Given the description of an element on the screen output the (x, y) to click on. 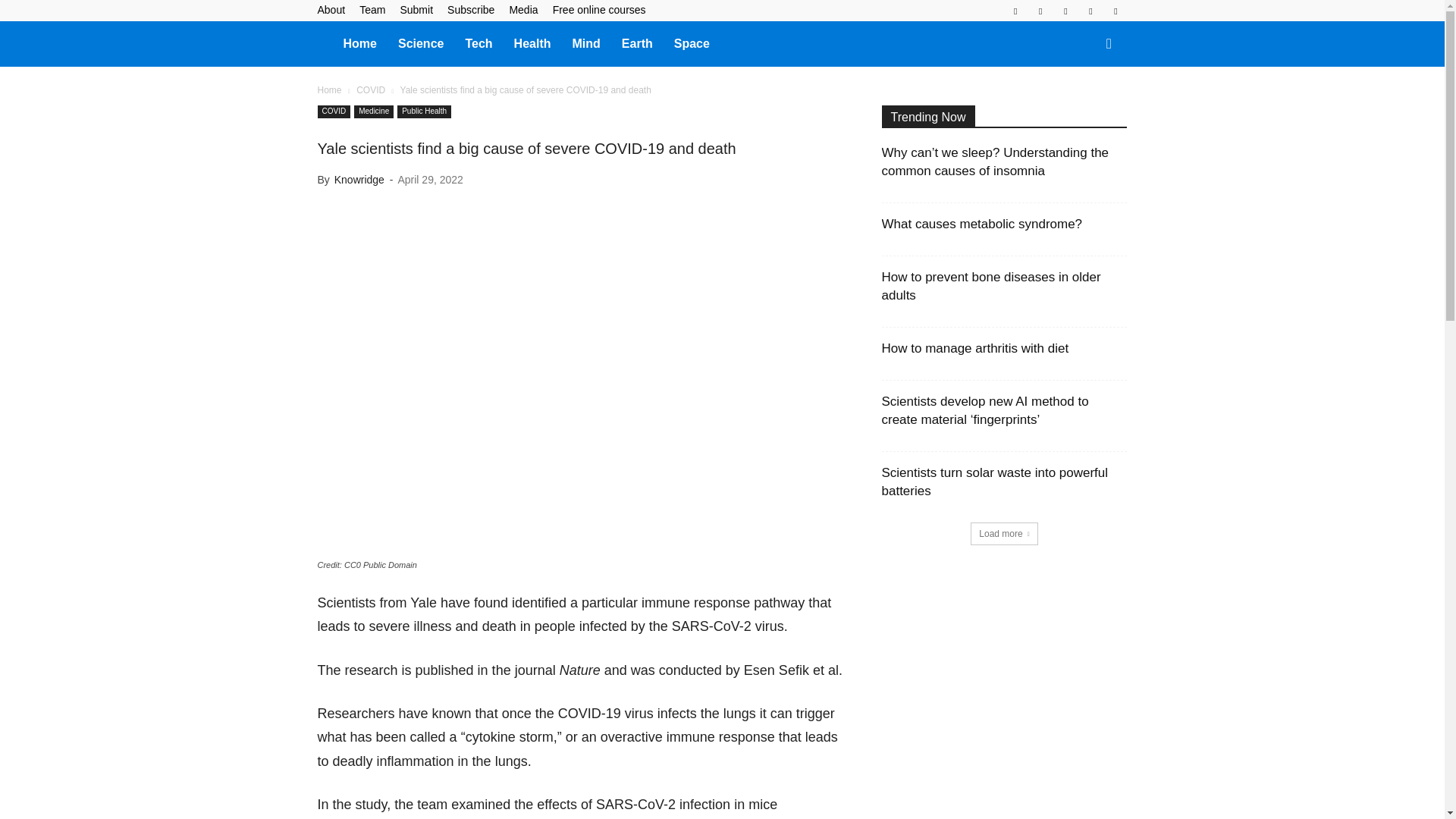
About (331, 9)
Linkedin (1040, 10)
Team (372, 9)
Facebook (1015, 10)
Twitter (1090, 10)
Free online courses (599, 9)
Submit (415, 9)
View all posts in COVID (370, 90)
Media (522, 9)
RSS (1065, 10)
Website (1114, 10)
Subscribe (470, 9)
